Given the description of an element on the screen output the (x, y) to click on. 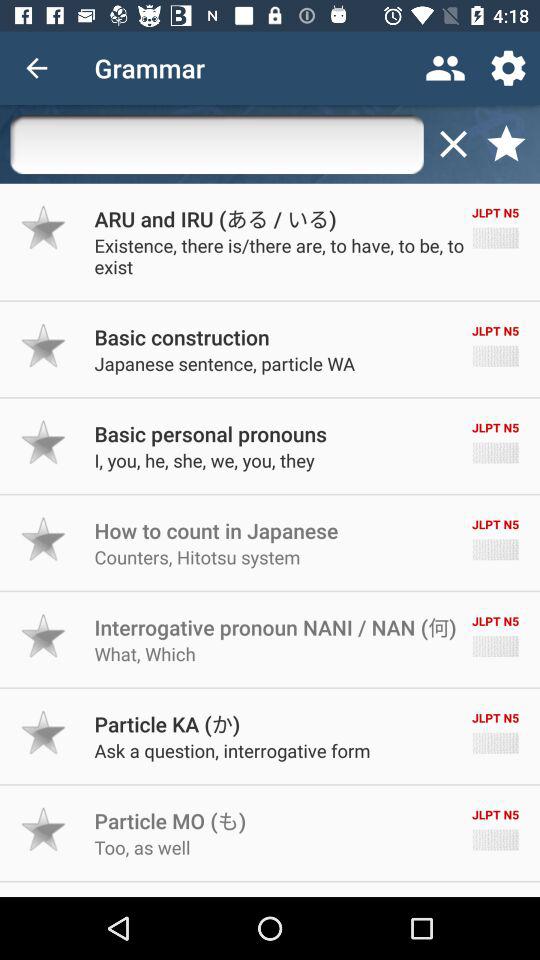
launch counters, hitotsu system item (197, 556)
